Given the description of an element on the screen output the (x, y) to click on. 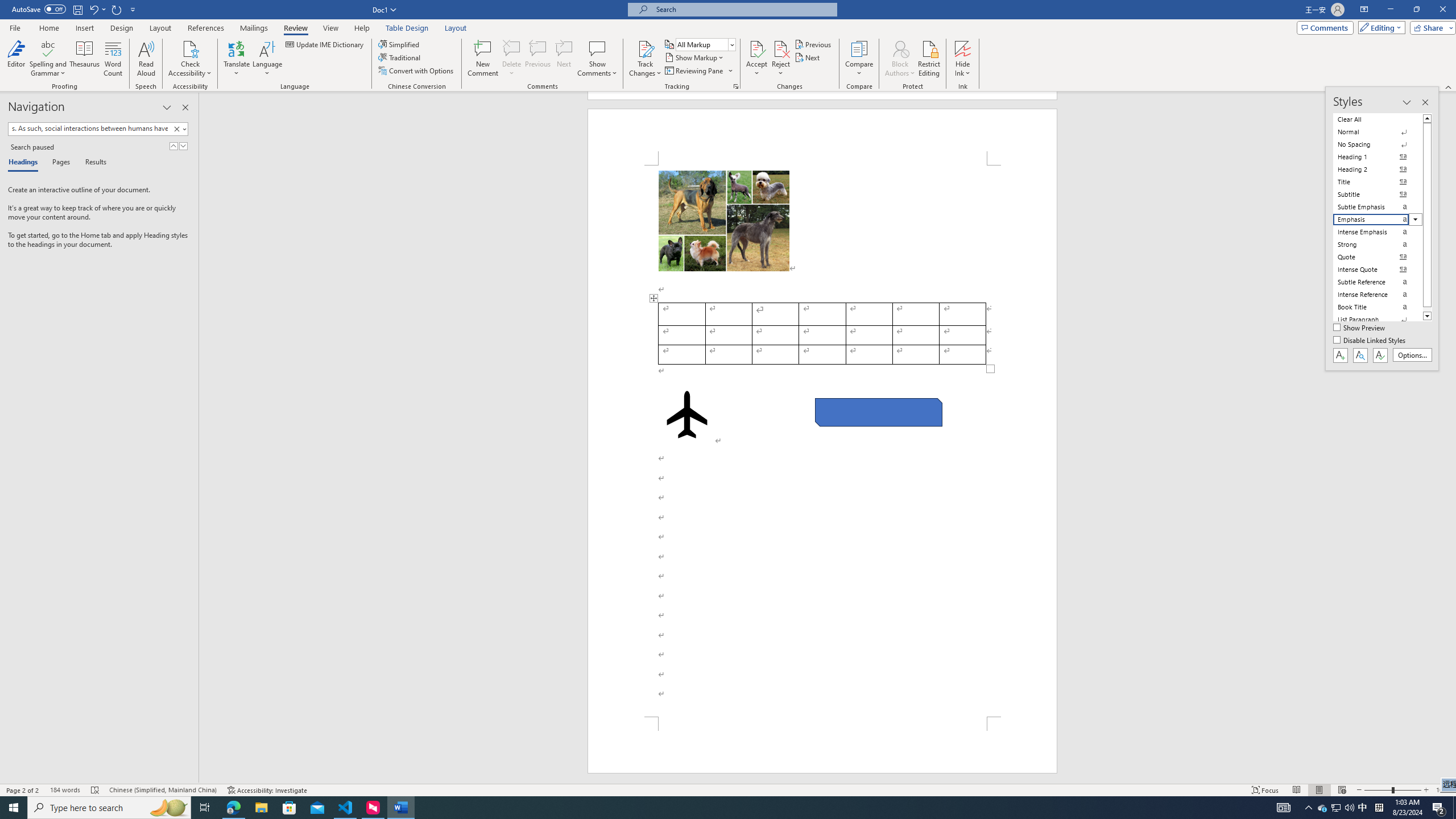
Subtle Reference (1377, 282)
Check Accessibility (189, 58)
Language (267, 58)
Heading 2 (1377, 169)
Page Number Page 2 of 2 (22, 790)
Display for Review (705, 44)
Track Changes (644, 58)
